Given the description of an element on the screen output the (x, y) to click on. 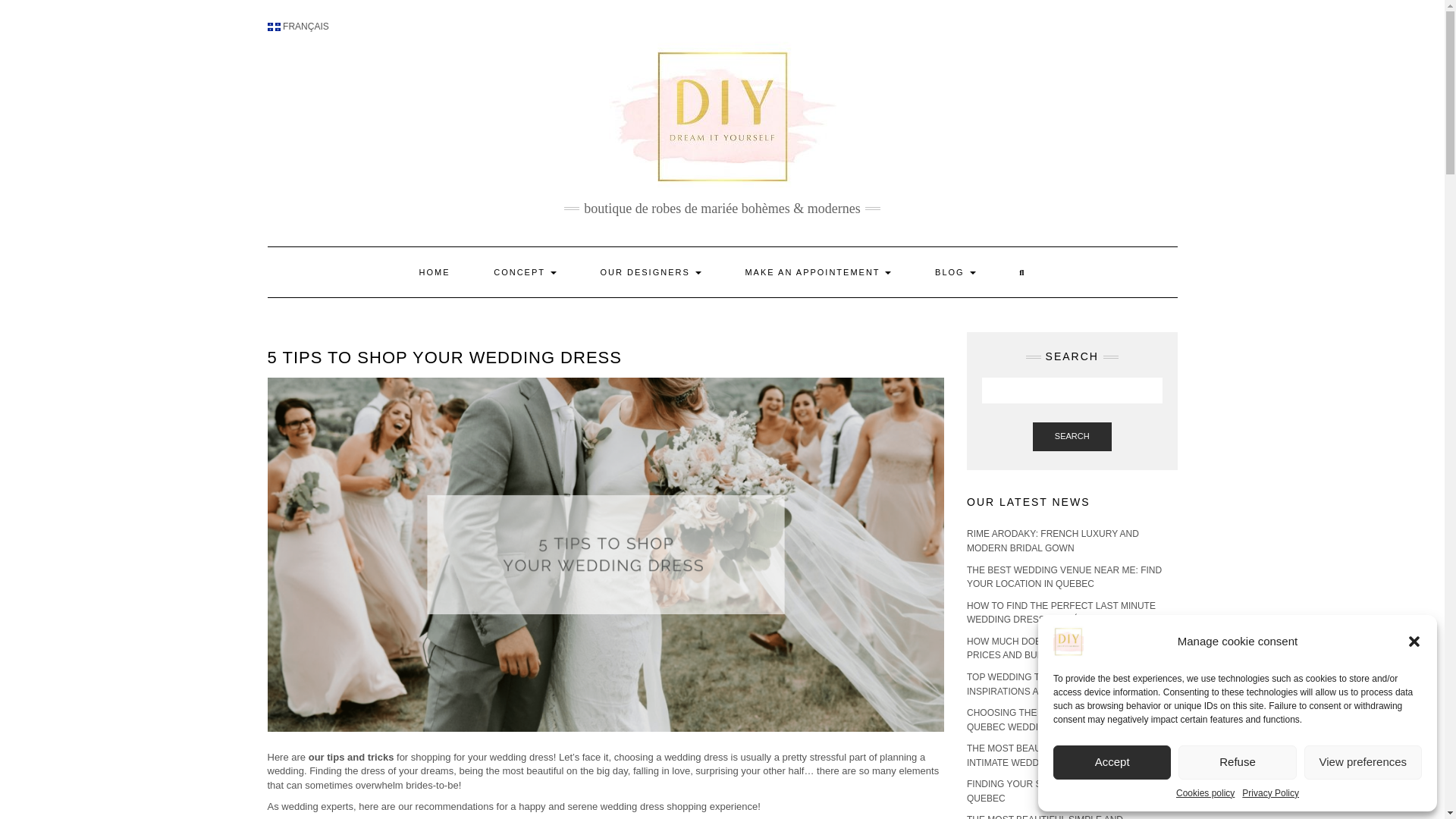
Refuse (1236, 762)
Accept (1111, 762)
BLOG (954, 272)
Privacy Policy (1269, 793)
CONCEPT (524, 272)
HOME (434, 272)
View preferences (1363, 762)
Cookies policy (1205, 793)
MAKE AN APPOINTEMENT (817, 272)
OUR DESIGNERS (649, 272)
